Given the description of an element on the screen output the (x, y) to click on. 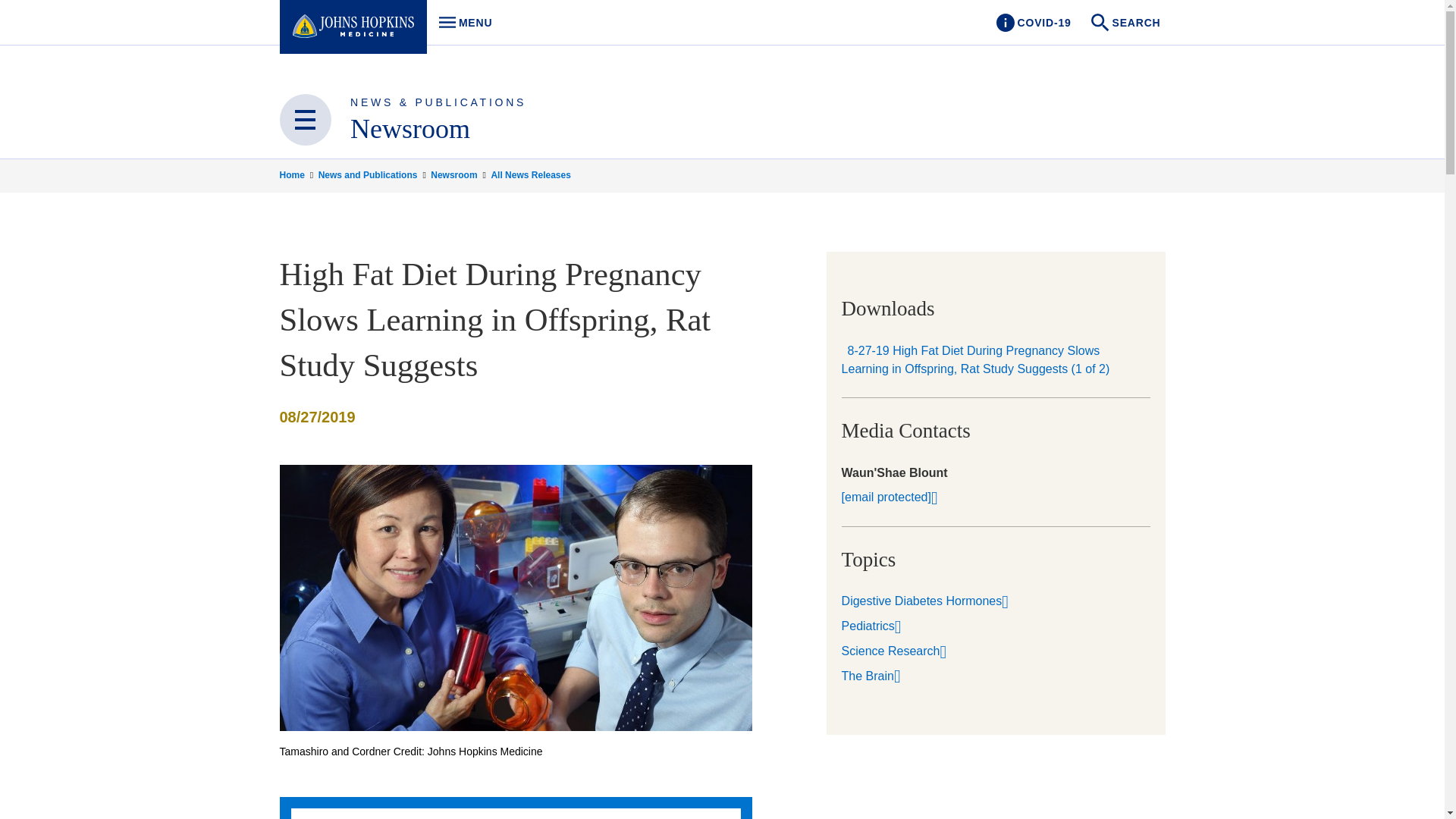
Newsroom (410, 128)
SEARCH (1126, 22)
News and Publications (373, 174)
Home (296, 174)
COVID-19 (461, 22)
Close Main Menu (1033, 22)
All News Releases (304, 119)
Newsroom (530, 174)
